Given the description of an element on the screen output the (x, y) to click on. 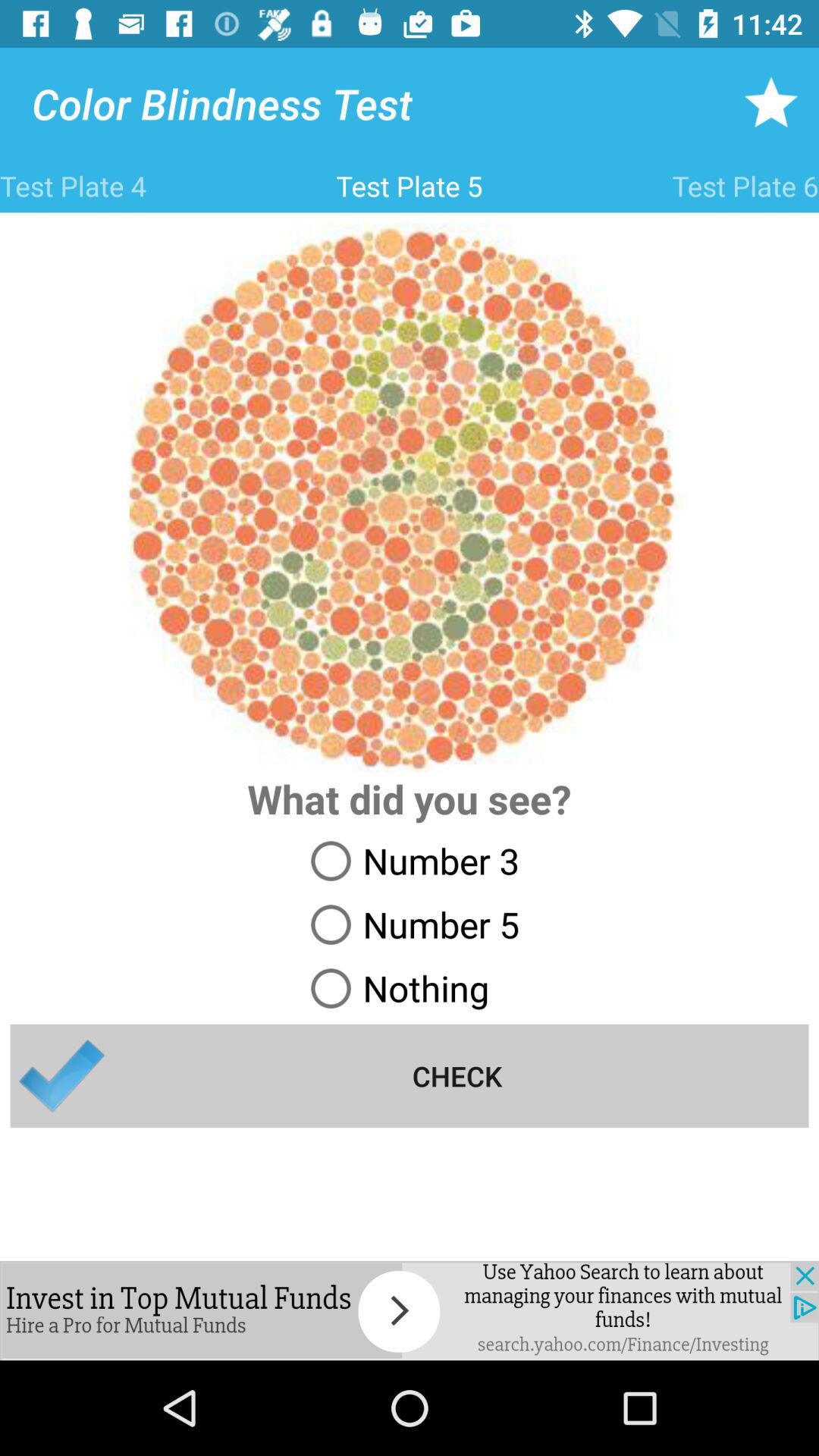
open advertisement (409, 1310)
